Given the description of an element on the screen output the (x, y) to click on. 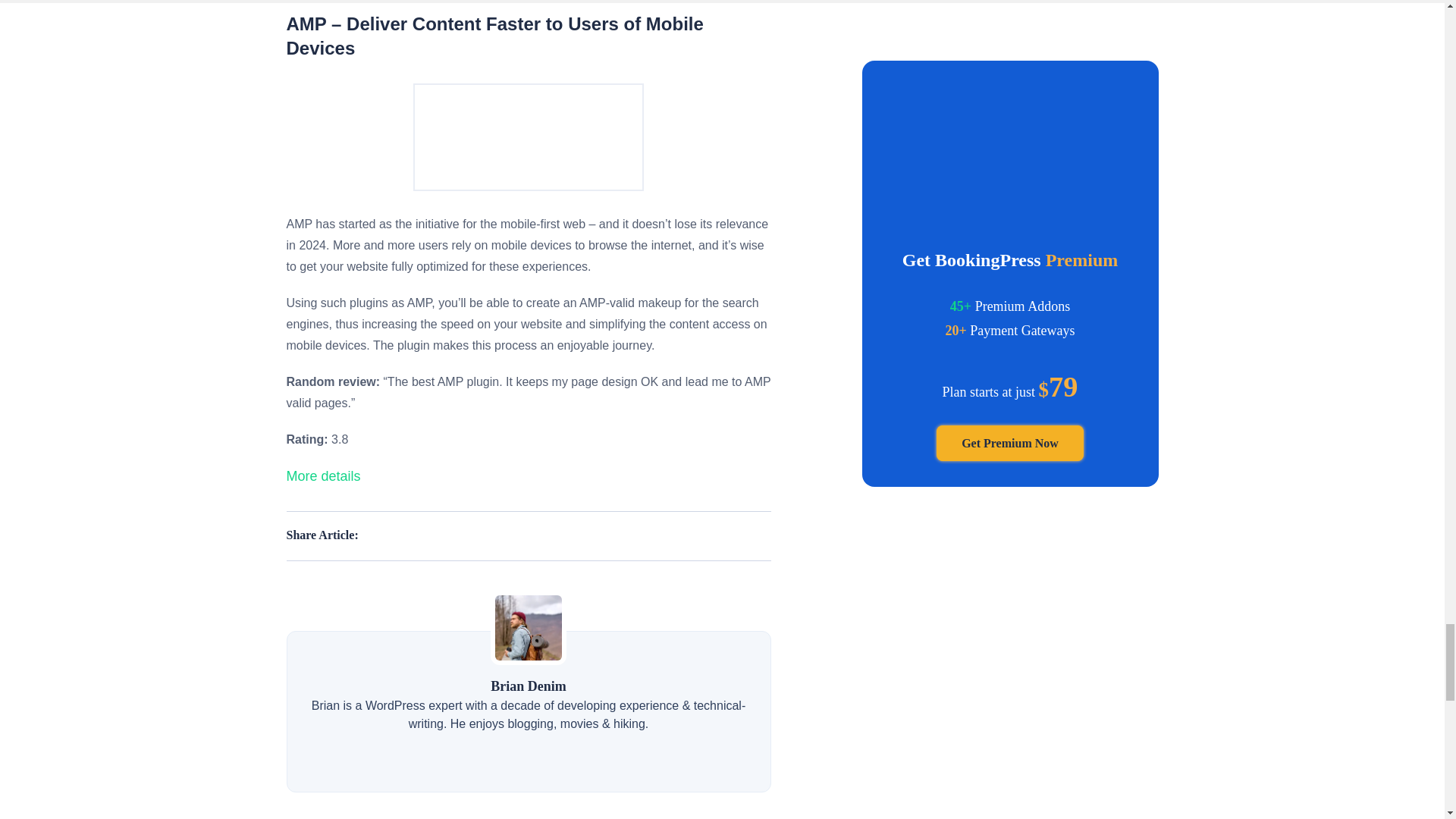
Posts by Brian Denim (528, 685)
